Given the description of an element on the screen output the (x, y) to click on. 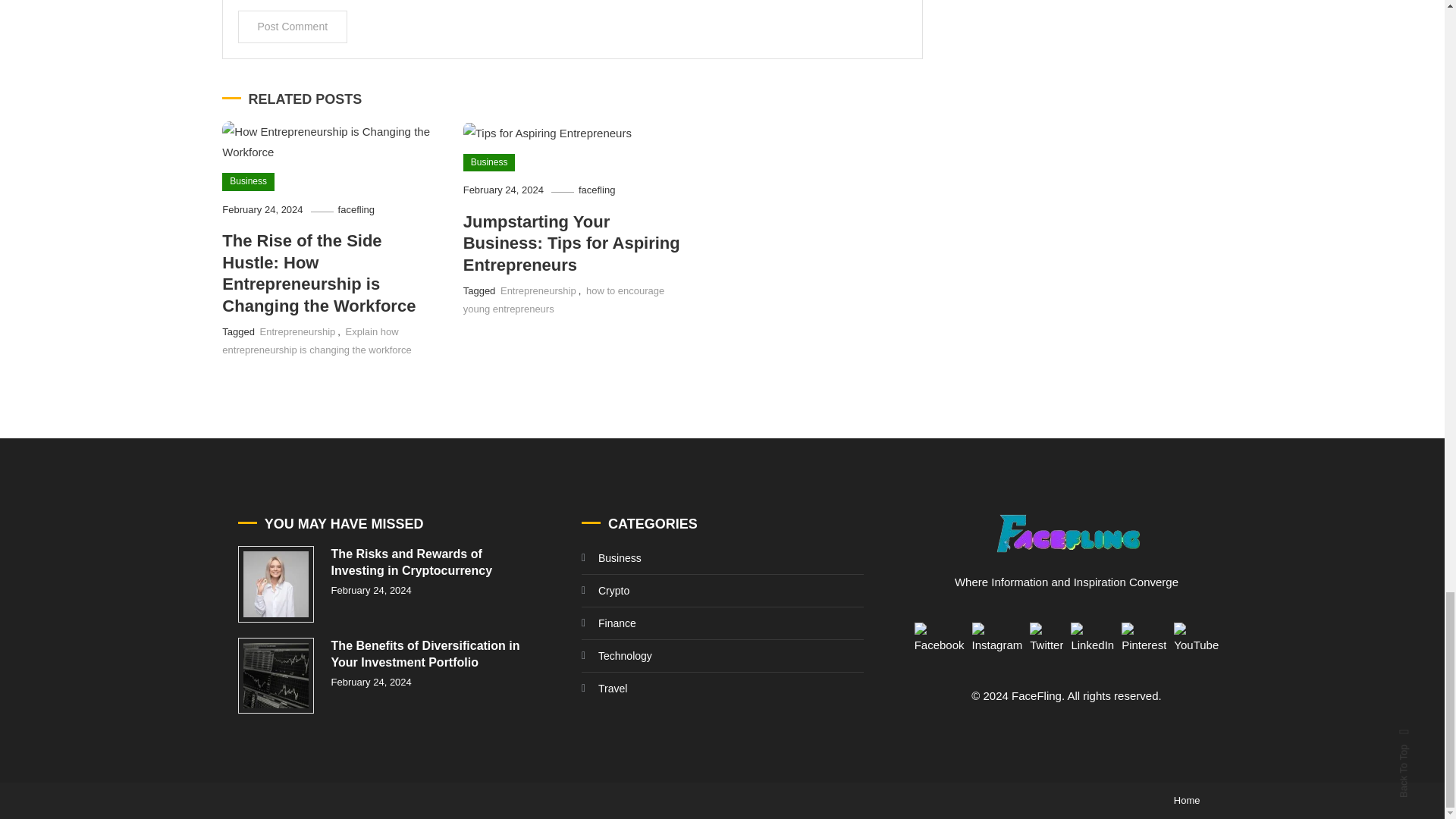
Business (248, 181)
Post Comment (292, 26)
The Risks and Rewards of Investing in Cryptocurrency (276, 584)
Business (489, 162)
Post Comment (292, 26)
February 24, 2024 (262, 209)
Entrepreneurship (538, 290)
how to encourage young entrepreneurs (564, 299)
Jumpstarting Your Business: Tips for Aspiring Entrepreneurs (571, 243)
February 24, 2024 (503, 189)
facefling (355, 209)
Entrepreneurship (298, 331)
The Benefits of Diversification in Your Investment Portfolio (276, 676)
facefling (596, 189)
